Given the description of an element on the screen output the (x, y) to click on. 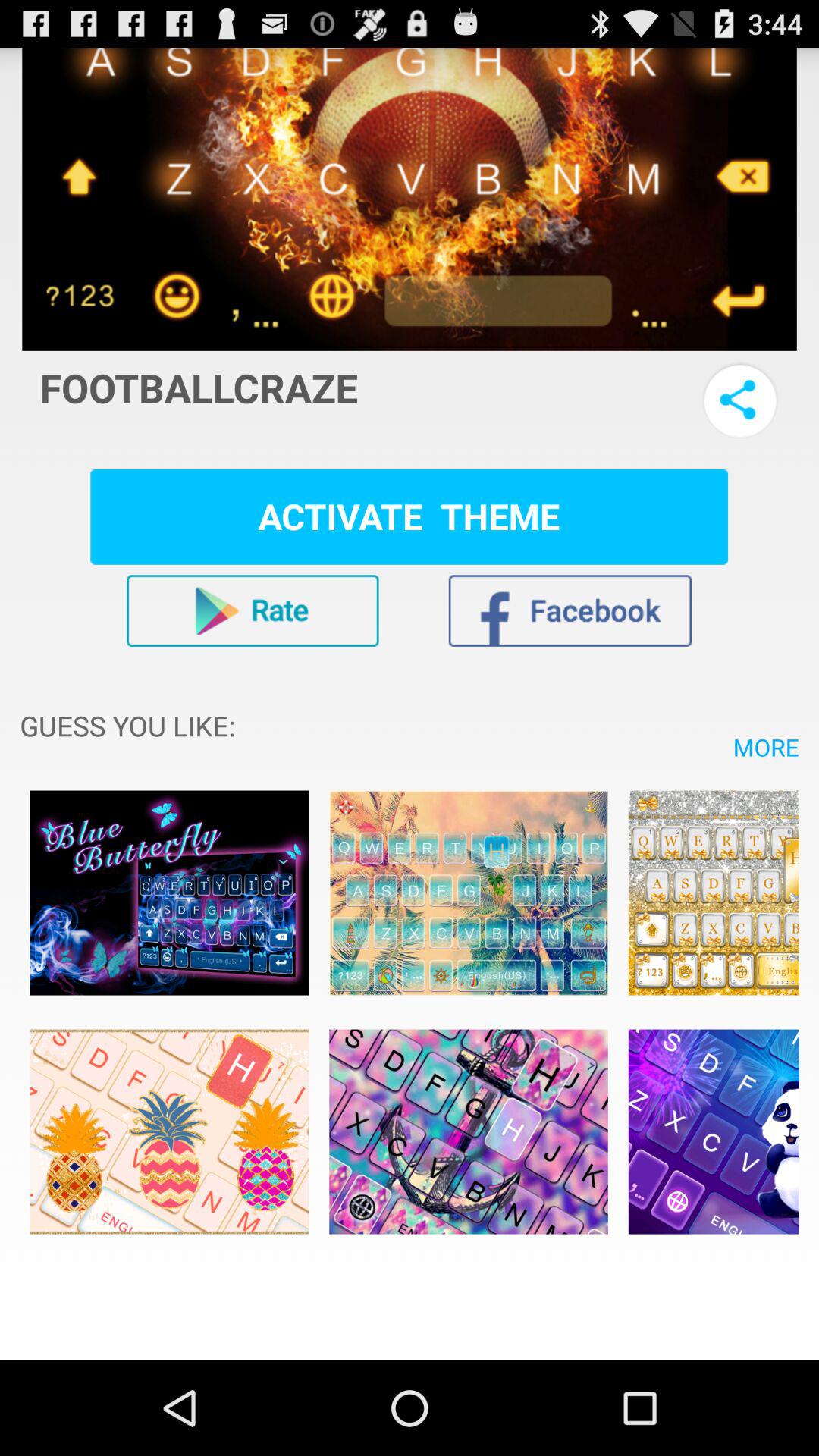
select option (468, 892)
